Given the description of an element on the screen output the (x, y) to click on. 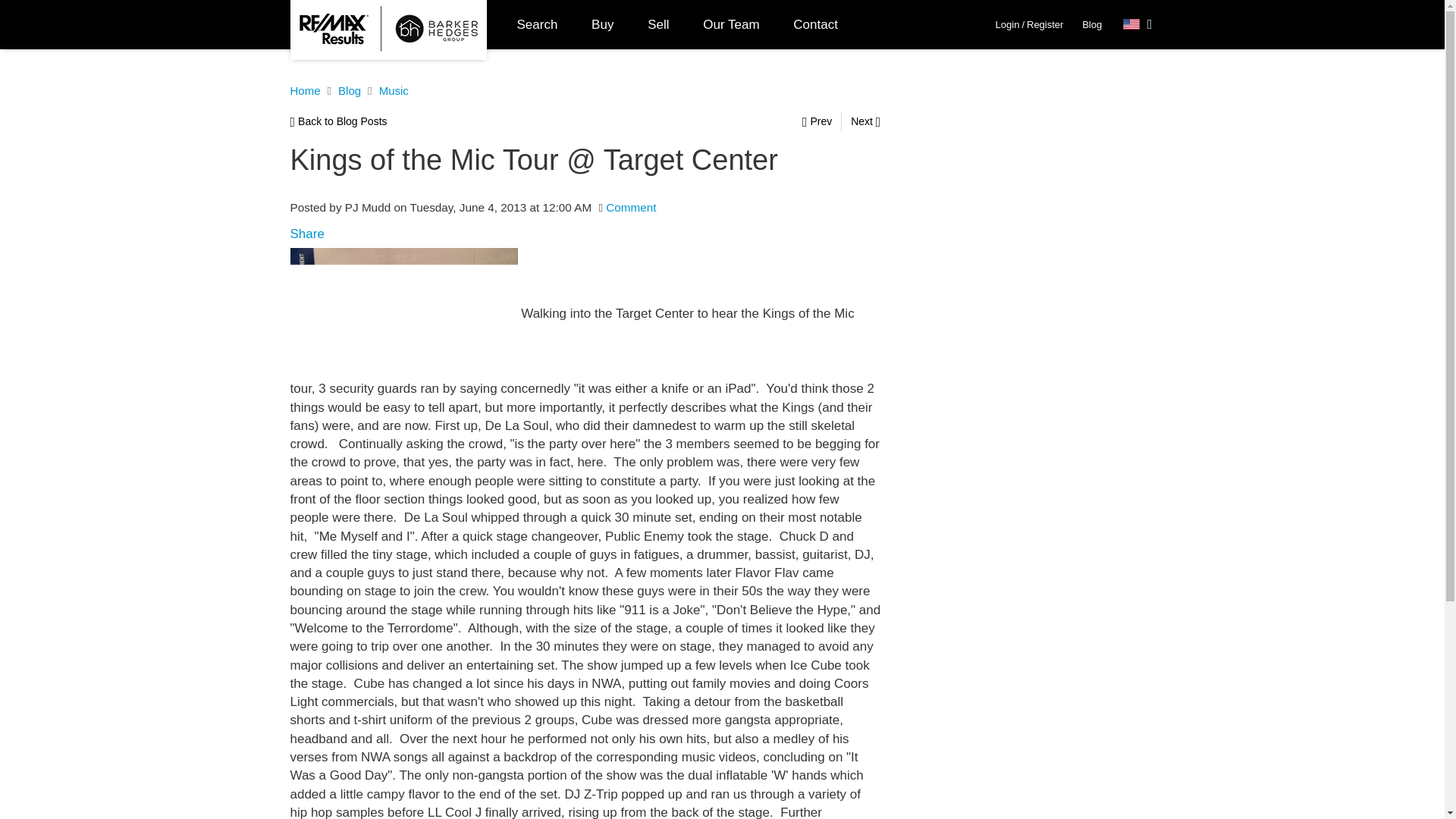
Sell (657, 24)
Buy (602, 24)
Register (1044, 24)
Search (537, 24)
Our Team (730, 24)
Select Language (1137, 24)
Blog (1091, 24)
